Given the description of an element on the screen output the (x, y) to click on. 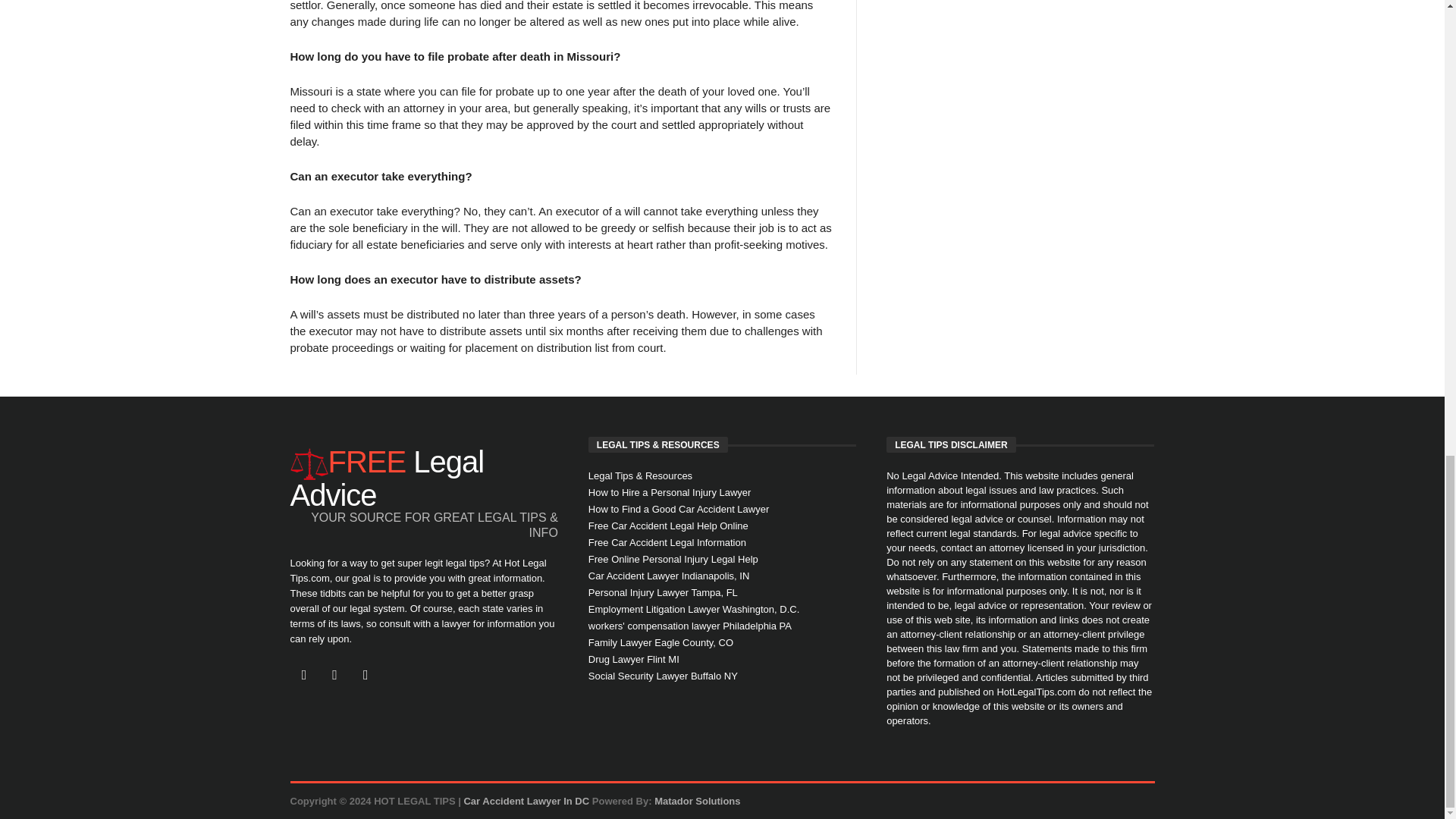
How to Find a Good Car Accident Lawyer (722, 510)
Free Car Accident Legal Help Online (722, 526)
FREE Legal Advice (423, 478)
How to Hire a Personal Injury Lawyer (722, 493)
